Given the description of an element on the screen output the (x, y) to click on. 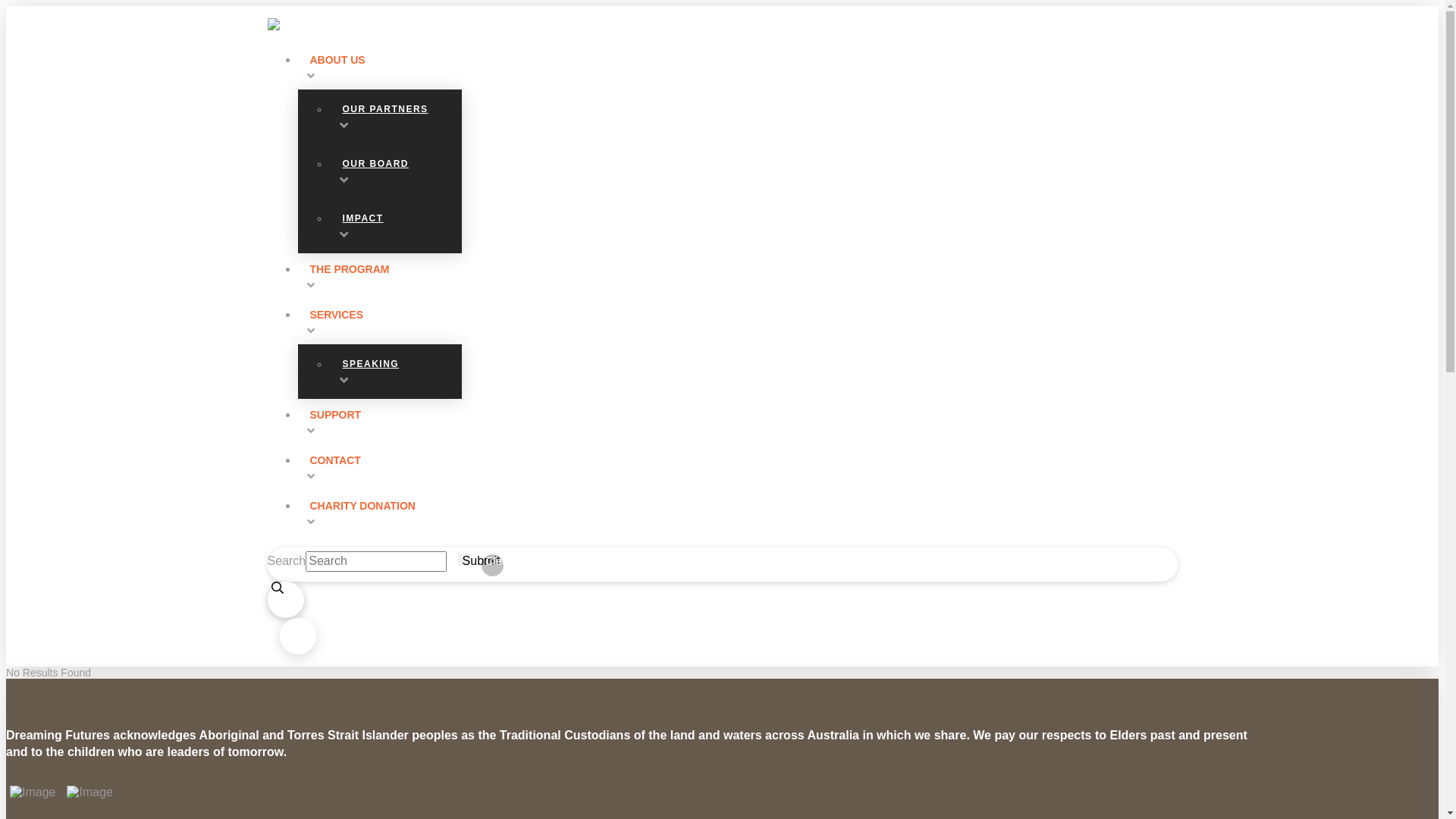
SPEAKING Element type: text (394, 371)
THE PROGRAM Element type: text (736, 275)
OUR PARTNERS Element type: text (394, 116)
SERVICES Element type: text (736, 321)
CONTACT Element type: text (736, 466)
SUPPORT Element type: text (736, 421)
Submit Element type: text (464, 559)
OUR BOARD Element type: text (394, 171)
IMPACT Element type: text (394, 225)
Clear Element type: text (492, 565)
CHARITY DONATION Element type: text (736, 512)
ABOUT US Element type: text (736, 66)
